Given the description of an element on the screen output the (x, y) to click on. 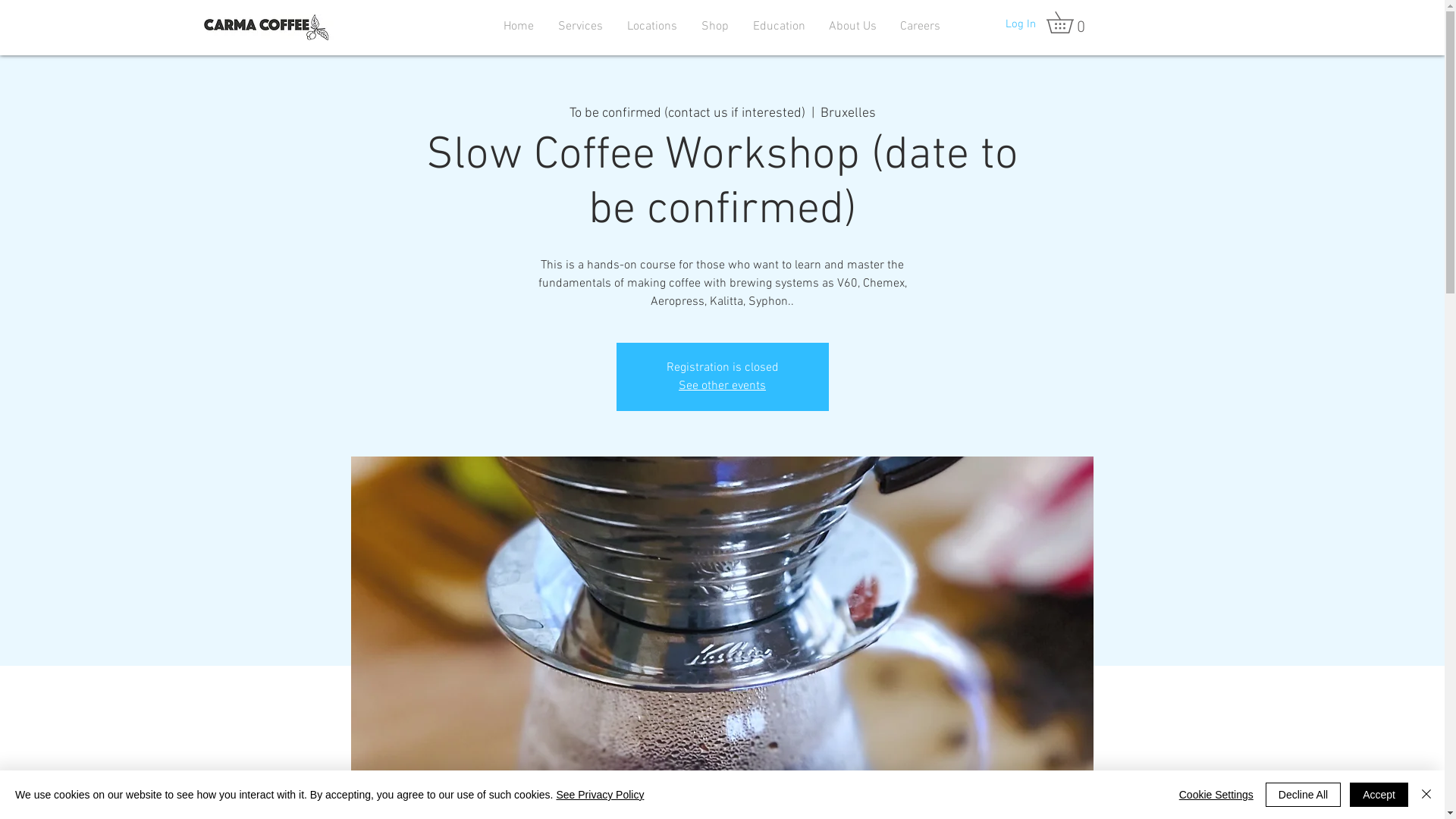
See Privacy Policy Element type: text (599, 794)
See other events Element type: text (721, 385)
About Us Element type: text (852, 26)
Education Element type: text (778, 26)
Log In Element type: text (1020, 24)
Home Element type: text (518, 26)
0 Element type: text (1070, 22)
Services Element type: text (580, 26)
Accept Element type: text (1378, 794)
Locations Element type: text (651, 26)
Decline All Element type: text (1302, 794)
Shop Element type: text (714, 26)
Careers Element type: text (920, 26)
